Given the description of an element on the screen output the (x, y) to click on. 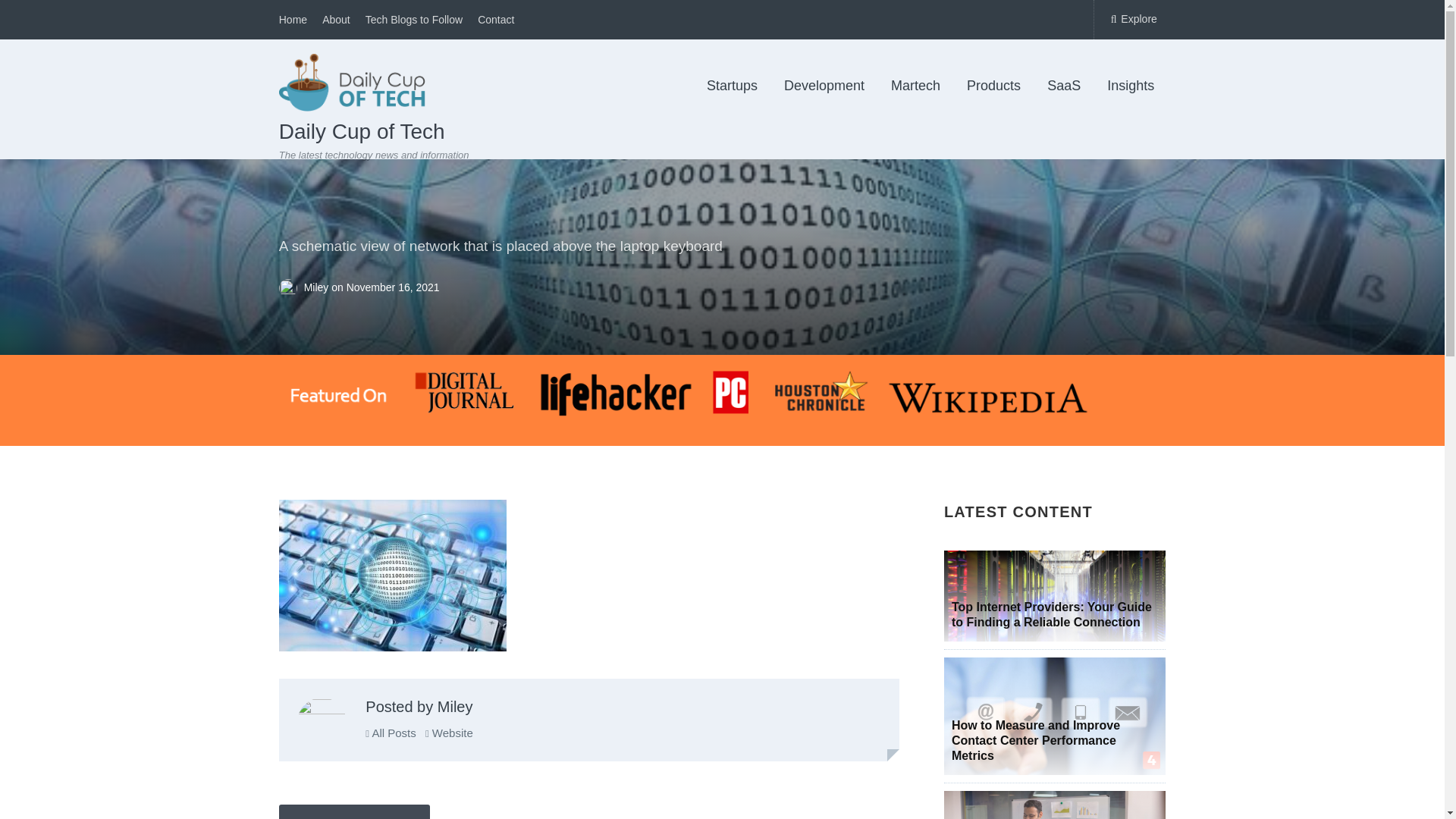
Contact (495, 19)
Tech Blogs to Follow (414, 19)
